Given the description of an element on the screen output the (x, y) to click on. 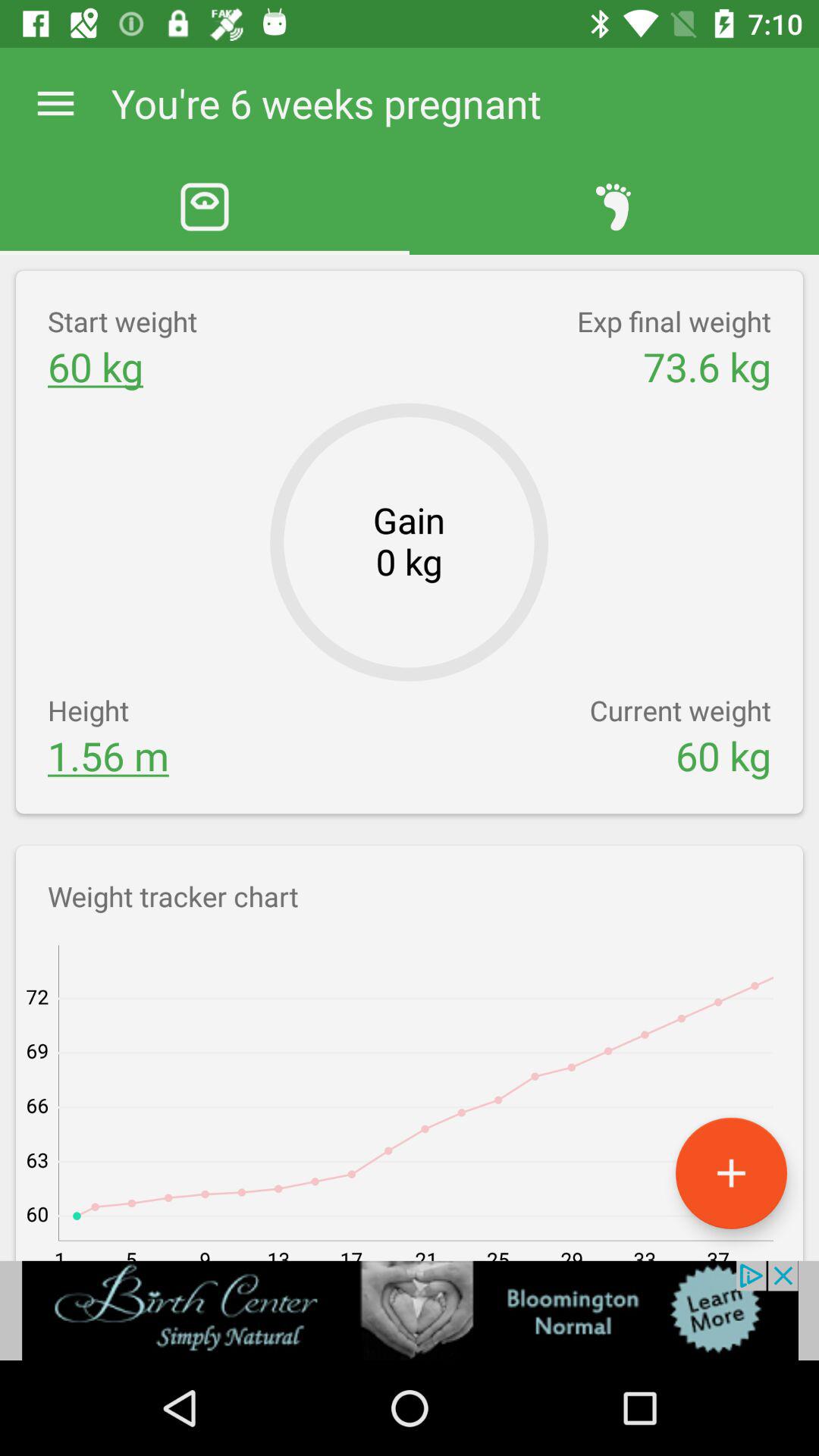
clickable advertisement (409, 1310)
